Given the description of an element on the screen output the (x, y) to click on. 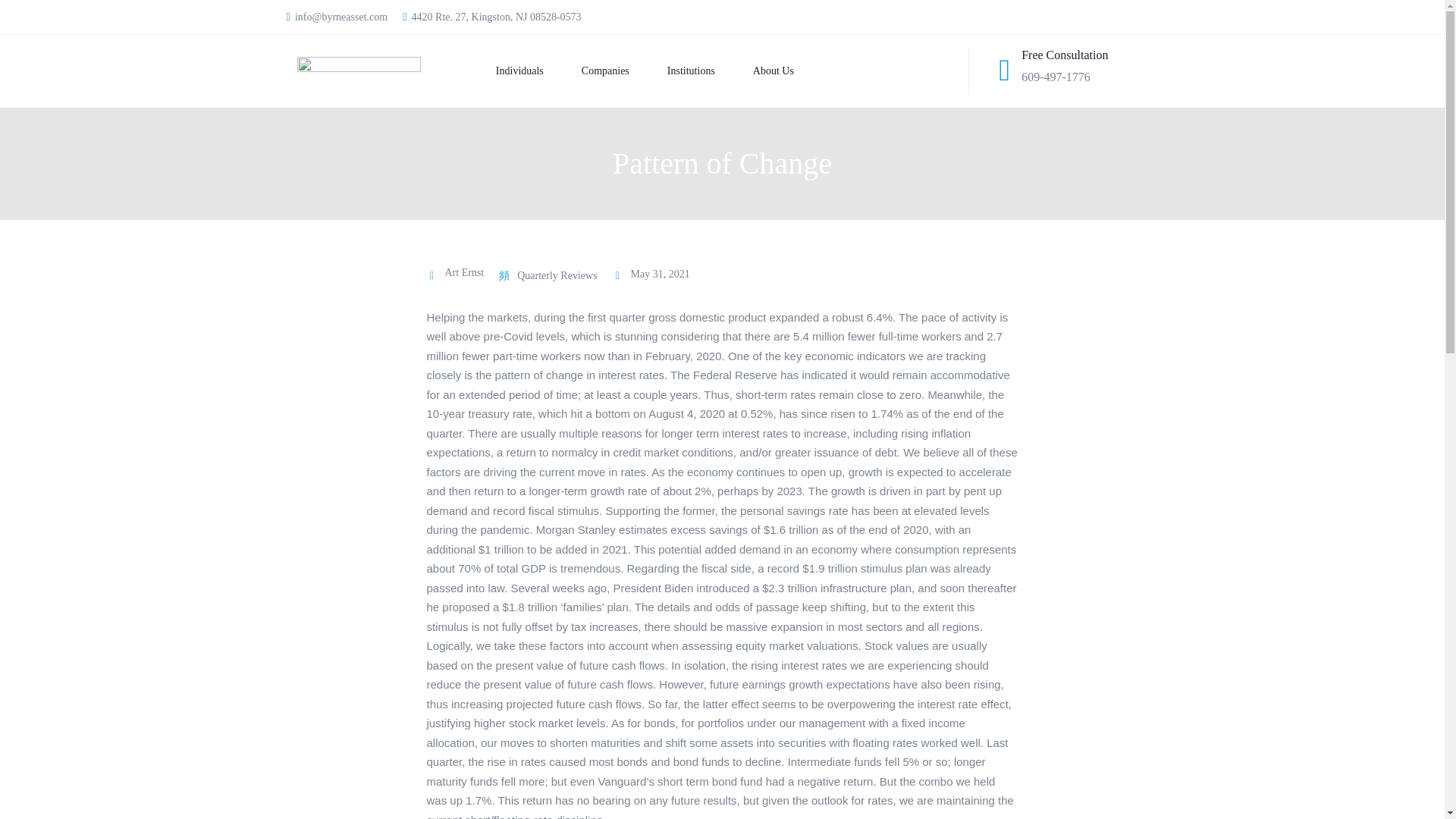
Companies (585, 71)
4420 Rte. 27, Kingston, NJ 08528-0573 (491, 16)
Institutions (671, 71)
About Us (753, 71)
Individuals (500, 71)
